Given the description of an element on the screen output the (x, y) to click on. 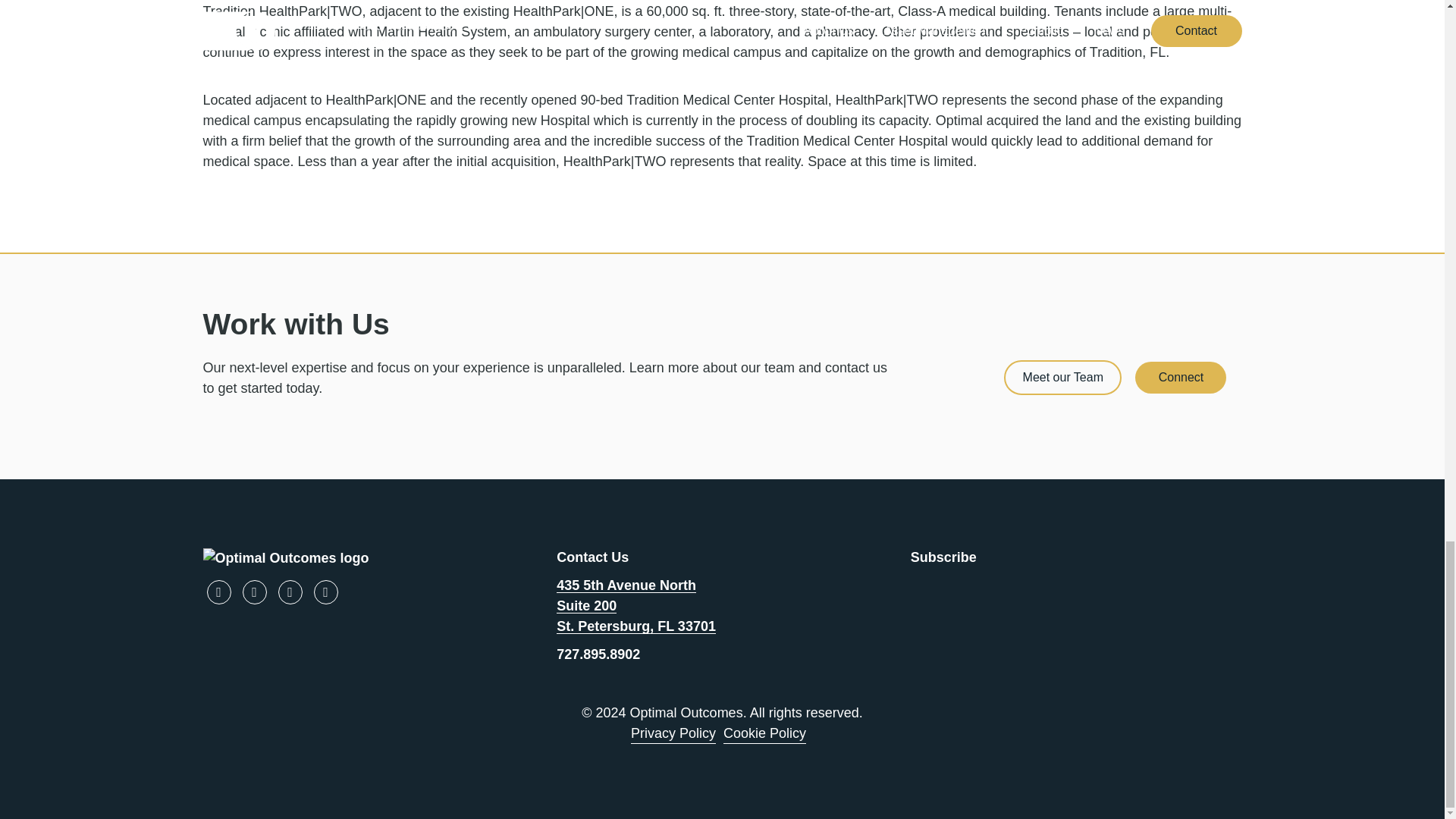
Connect (1180, 377)
LinkedIn (254, 591)
Optimal Outcomes (368, 557)
727.895.8902 (598, 654)
Privacy Policy (673, 733)
Meet our Team (1062, 377)
Cookie Policy (764, 733)
Instagram (325, 591)
Twitter (290, 591)
